Given the description of an element on the screen output the (x, y) to click on. 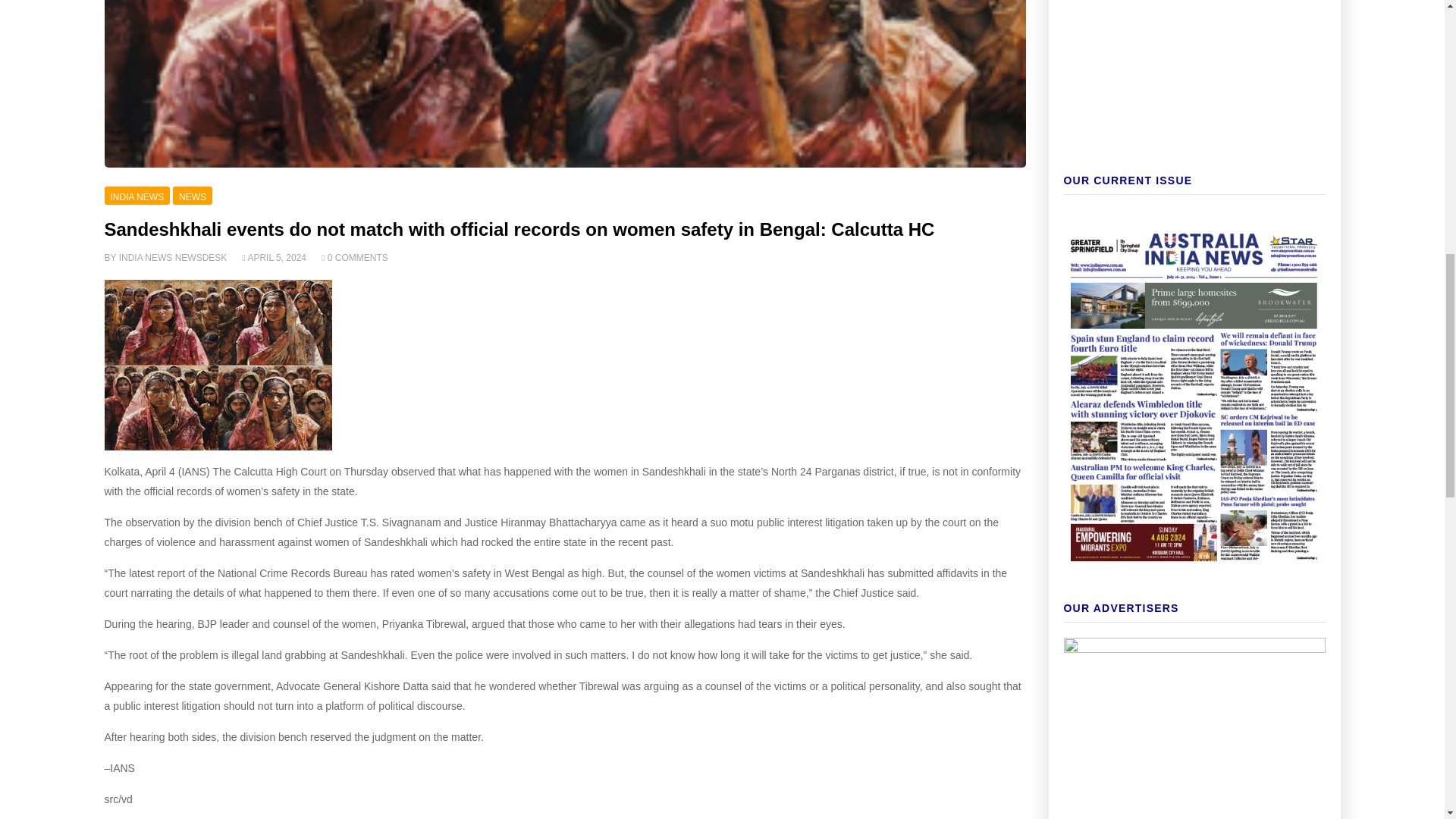
YouTube video player (1193, 9)
YouTube video player (1193, 92)
